Given the description of an element on the screen output the (x, y) to click on. 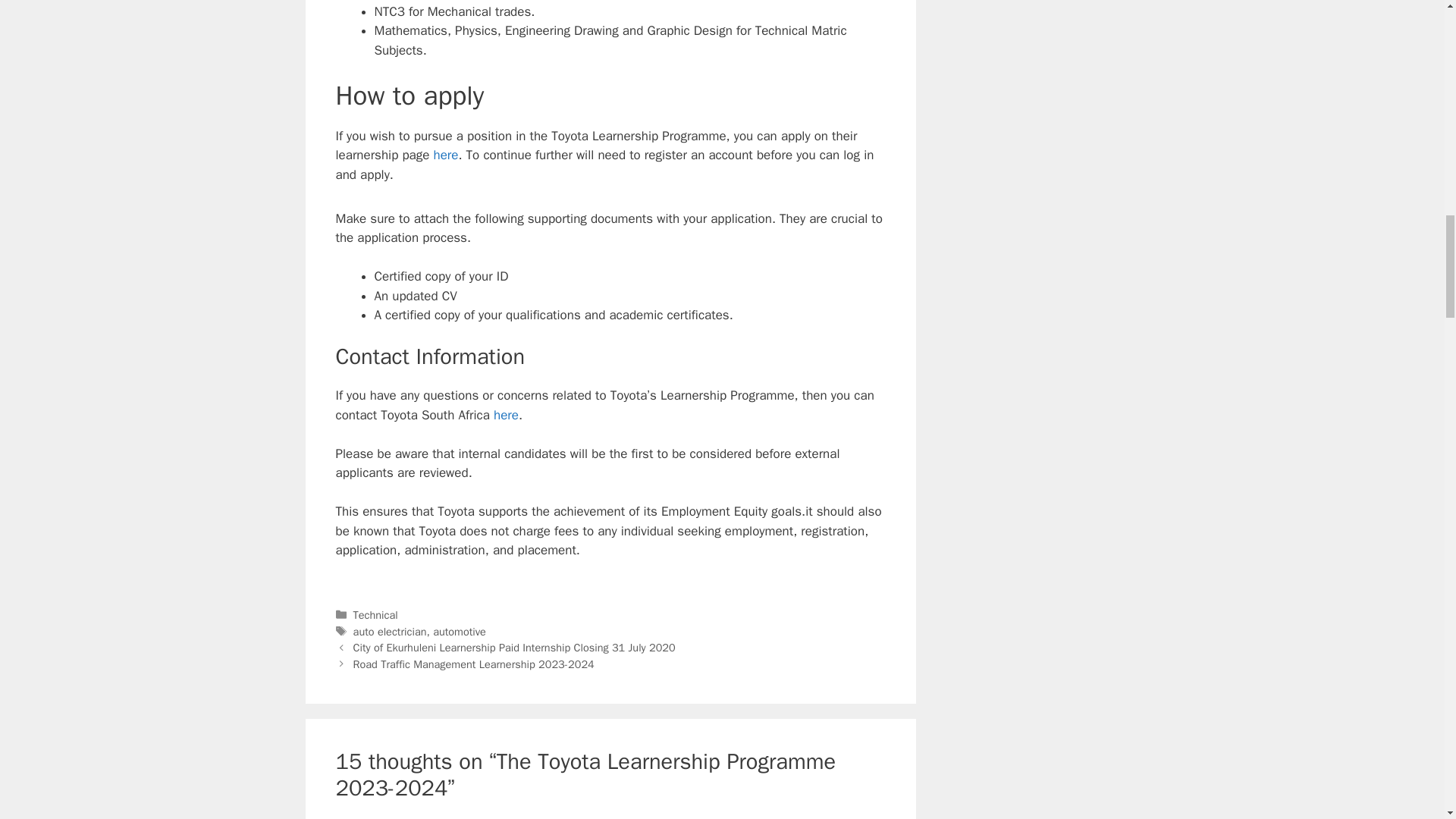
Technical (375, 614)
here (505, 415)
here (445, 154)
auto electrician (389, 631)
